Given the description of an element on the screen output the (x, y) to click on. 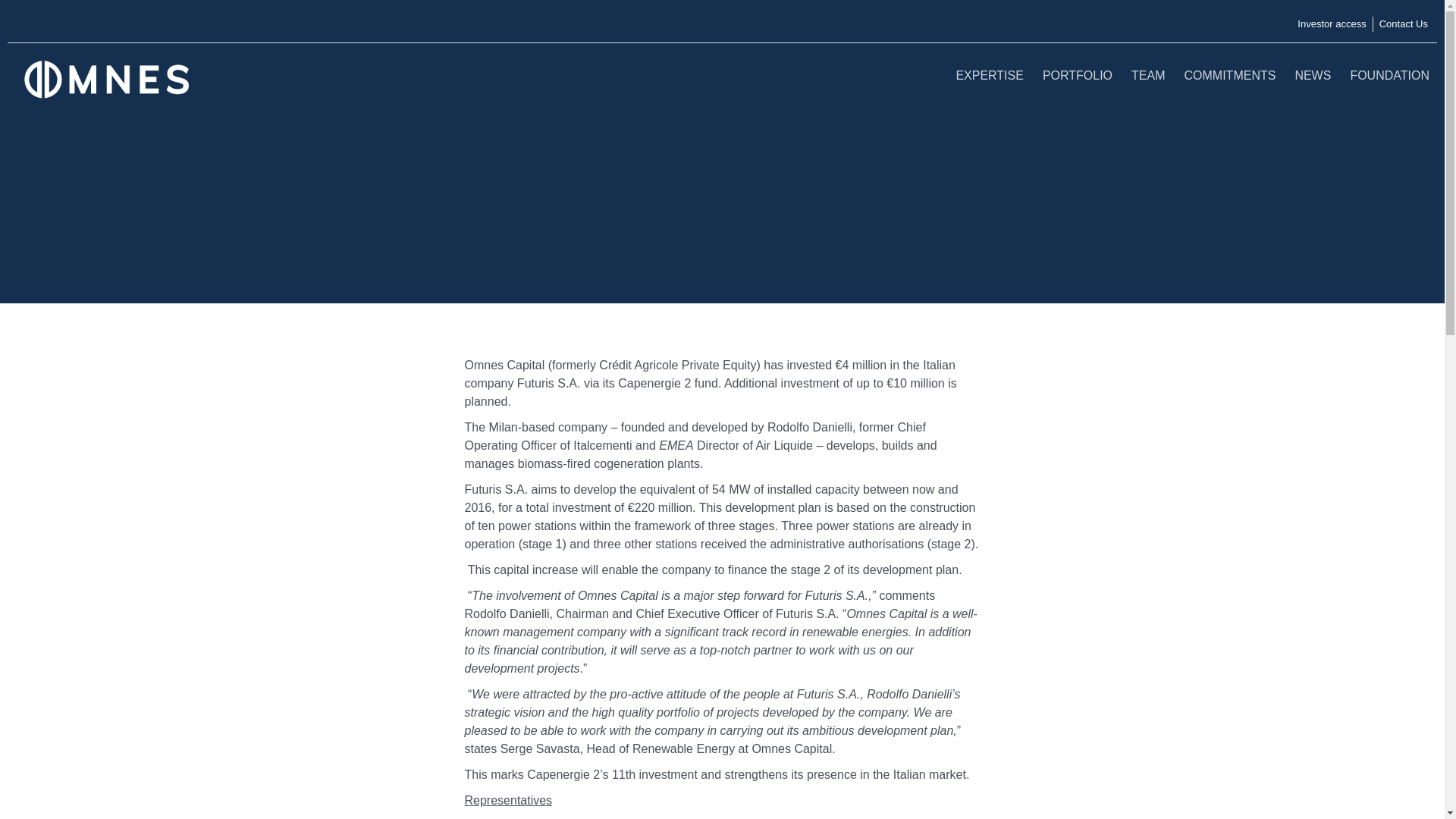
Investor access (1331, 23)
COMMITMENTS (1230, 74)
Contact Us (1403, 23)
EXPERTISE (989, 74)
NEWS (1312, 74)
PORTFOLIO (1077, 74)
FOUNDATION (1389, 74)
TEAM (1147, 74)
